Given the description of an element on the screen output the (x, y) to click on. 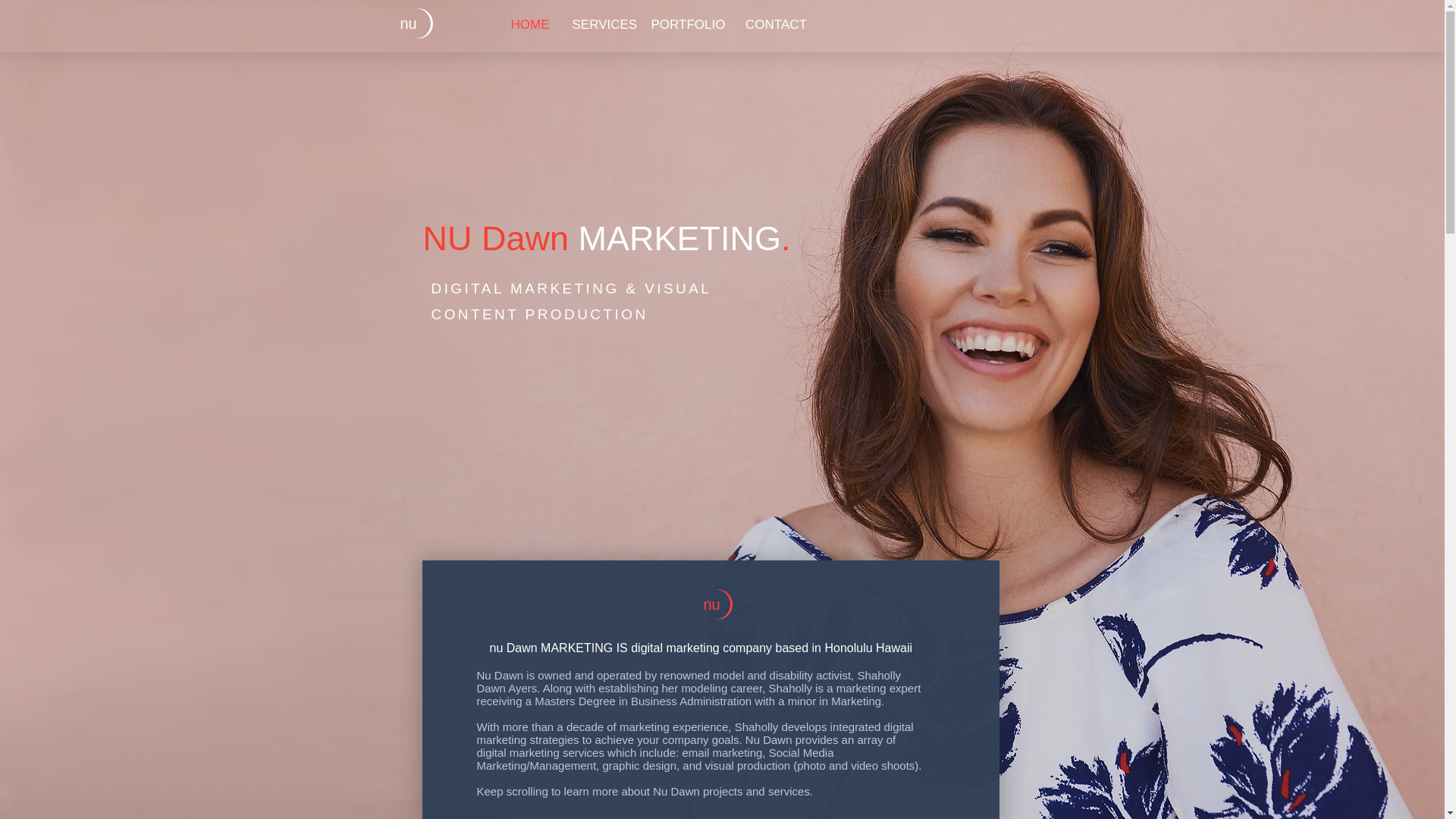
nu (408, 23)
HOME (529, 24)
SERVICES (600, 24)
PORTFOLIO (686, 24)
CONTACT (775, 24)
nu (711, 604)
